Given the description of an element on the screen output the (x, y) to click on. 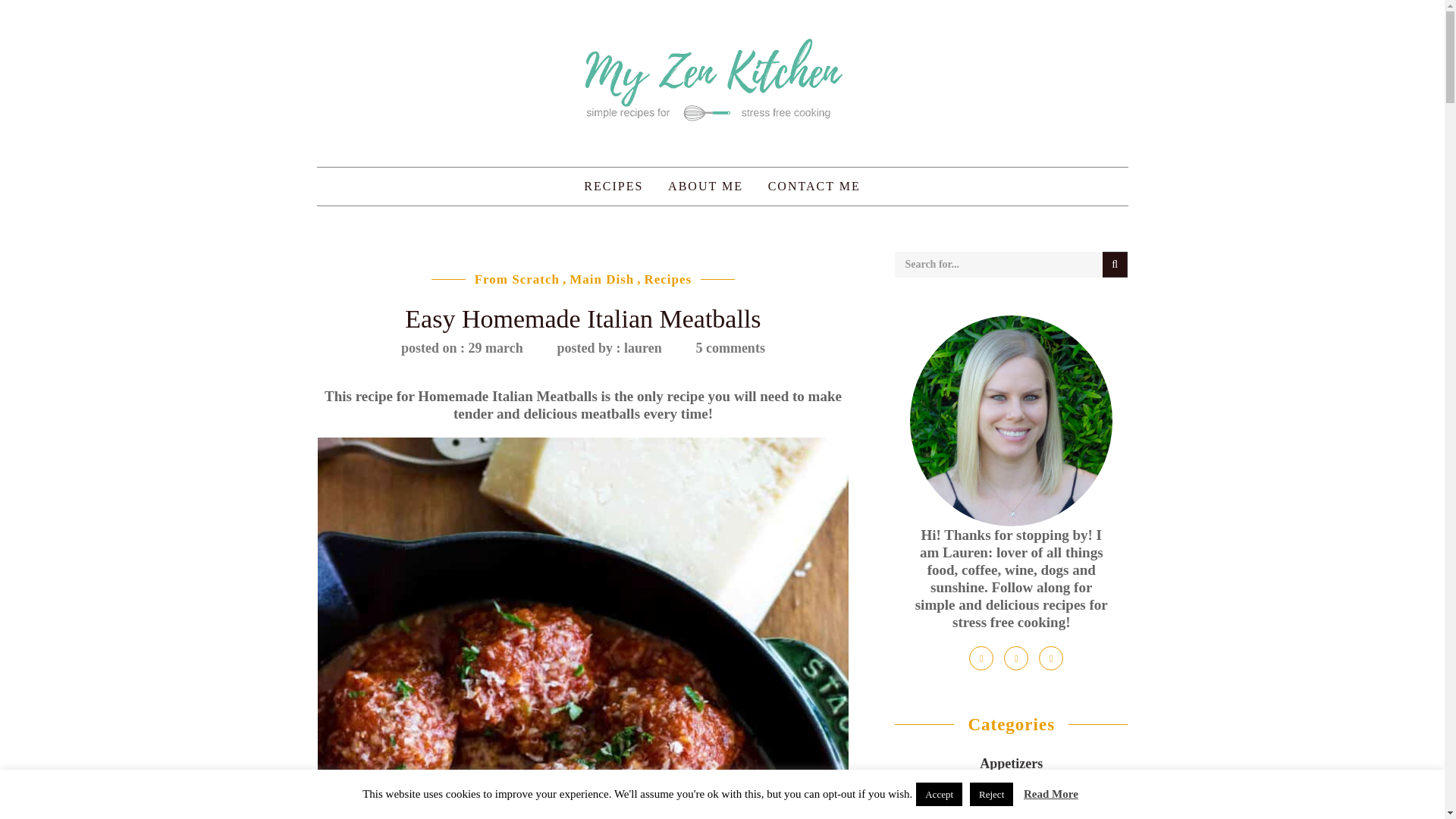
Main Dish (601, 278)
5 comments (729, 347)
CONTACT ME (814, 186)
29 march (461, 347)
RECIPES (612, 186)
Recipes (669, 278)
lauren (608, 347)
From Scratch (516, 278)
ABOUT ME (705, 186)
